Given the description of an element on the screen output the (x, y) to click on. 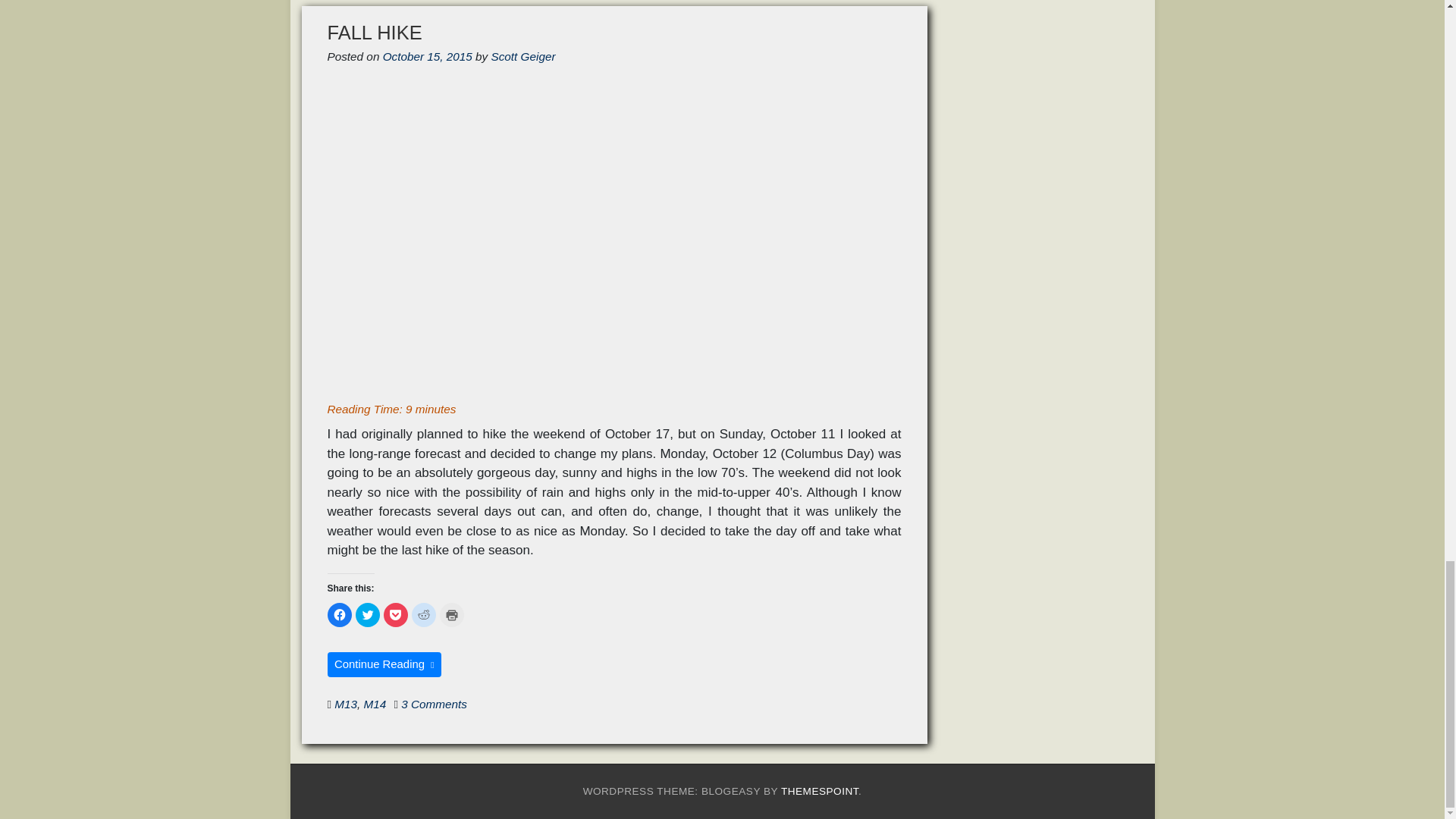
Click to share on Facebook (339, 614)
FALL HIKE (374, 32)
Click to share on Twitter (366, 614)
Scott Geiger (524, 56)
October 15, 2015 (426, 56)
